Given the description of an element on the screen output the (x, y) to click on. 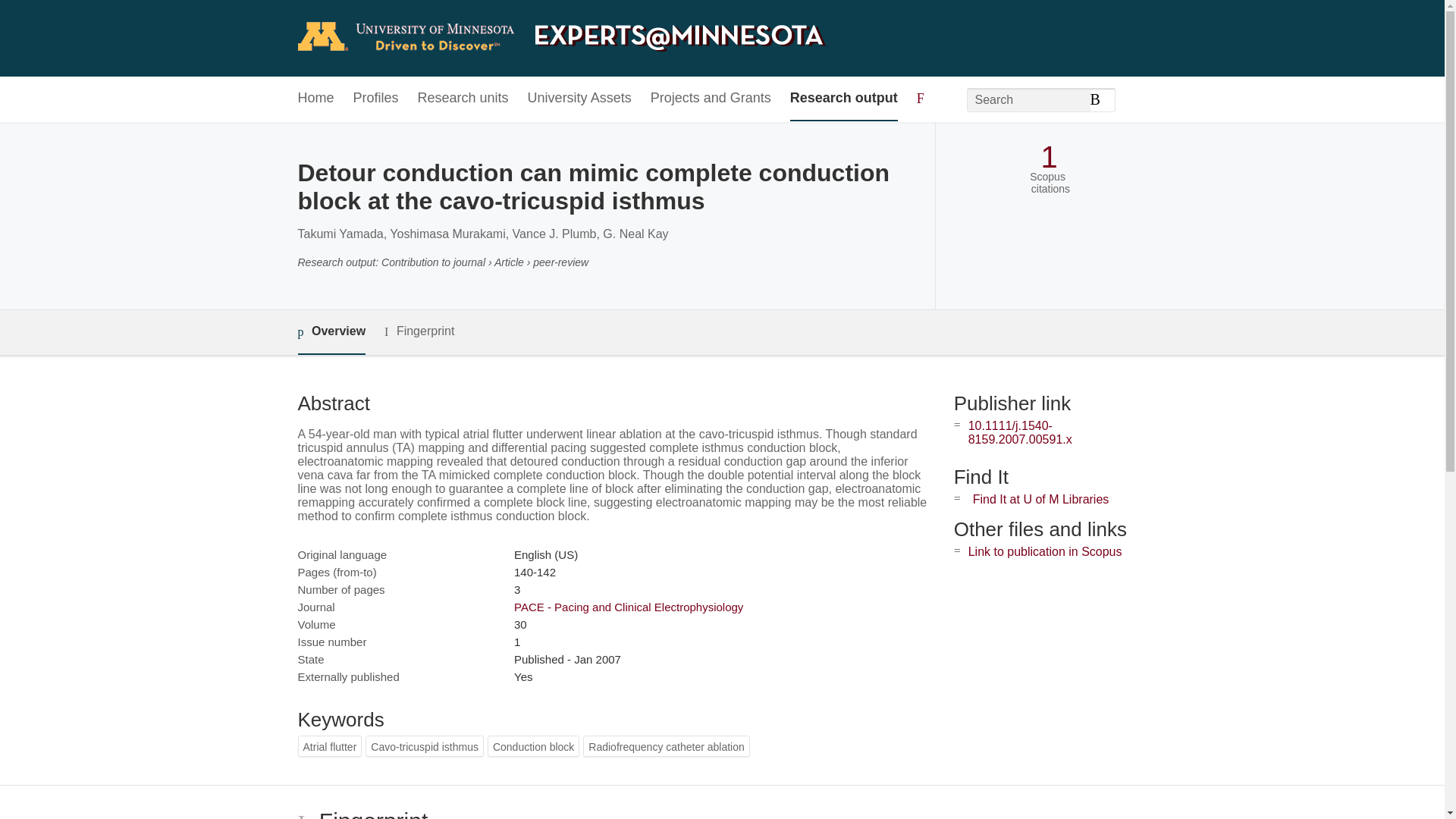
Overview (331, 332)
Fingerprint (419, 331)
Profiles (375, 98)
PACE - Pacing and Clinical Electrophysiology (627, 606)
Projects and Grants (710, 98)
Find It at U of M Libraries (1040, 499)
Research output (844, 98)
Link to publication in Scopus (1045, 551)
University Assets (579, 98)
